Given the description of an element on the screen output the (x, y) to click on. 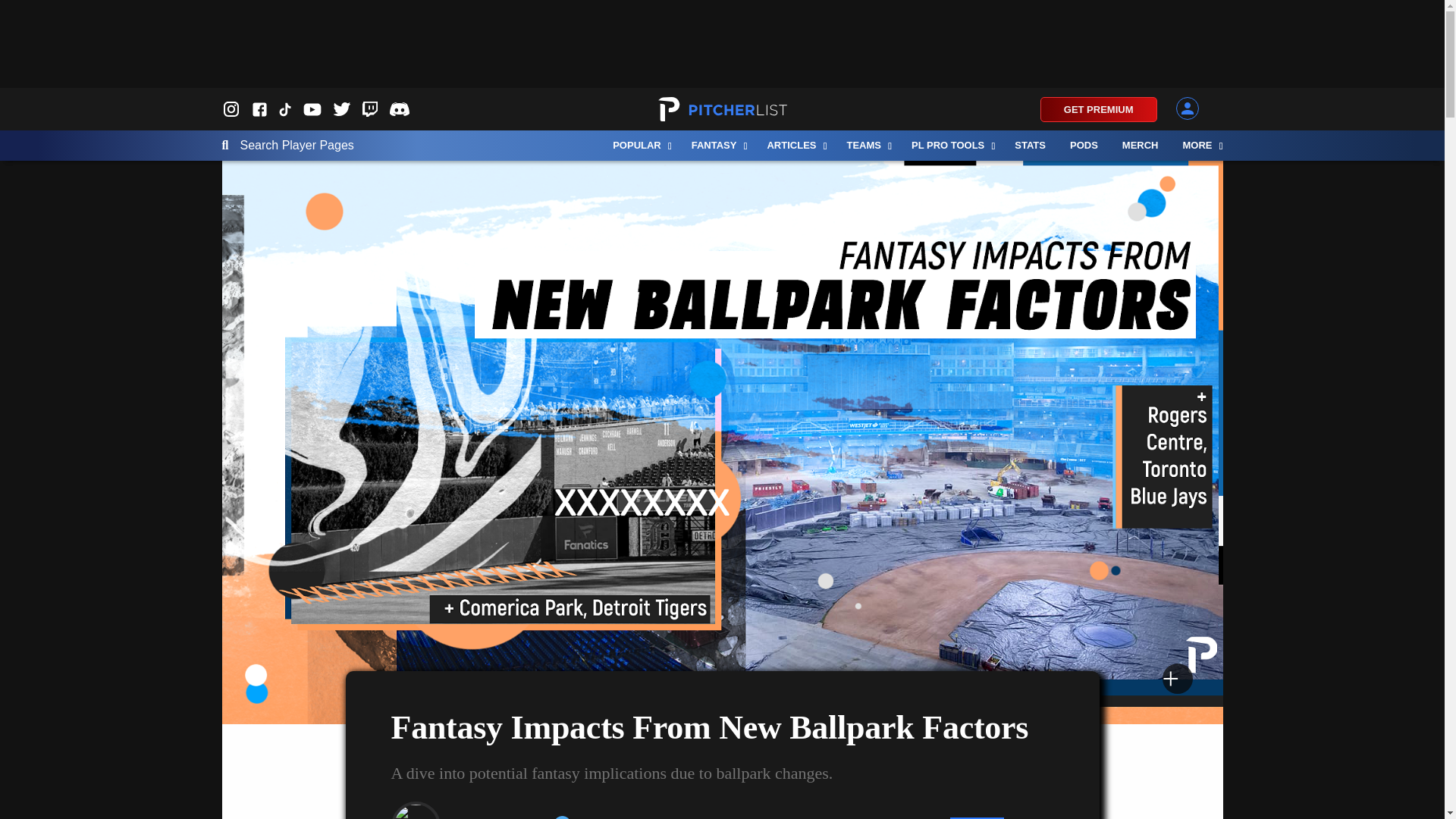
FANTASY (717, 145)
GET PREMIUM (1099, 109)
